Given the description of an element on the screen output the (x, y) to click on. 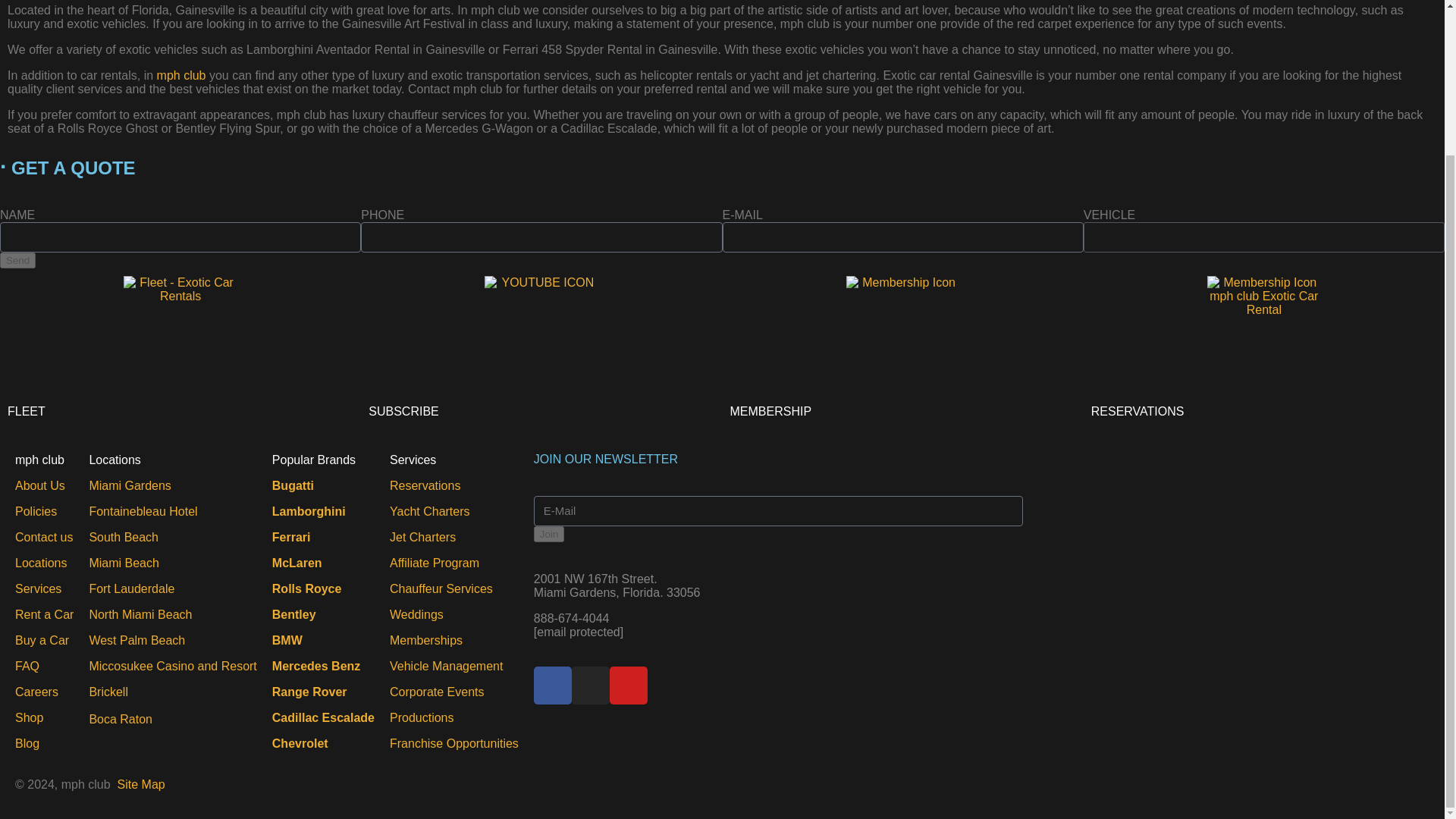
Contact us (43, 536)
mph club (181, 74)
SUBSCRIBE (403, 410)
Services (37, 588)
Careers (36, 691)
FAQ (26, 666)
MEMBERSHIP (769, 410)
Send (17, 260)
RESERVATIONS (1137, 410)
Buy a Car (41, 640)
About Us (39, 485)
Rent a Car (44, 614)
Locations (40, 562)
Policies (35, 511)
Shop (28, 717)
